Given the description of an element on the screen output the (x, y) to click on. 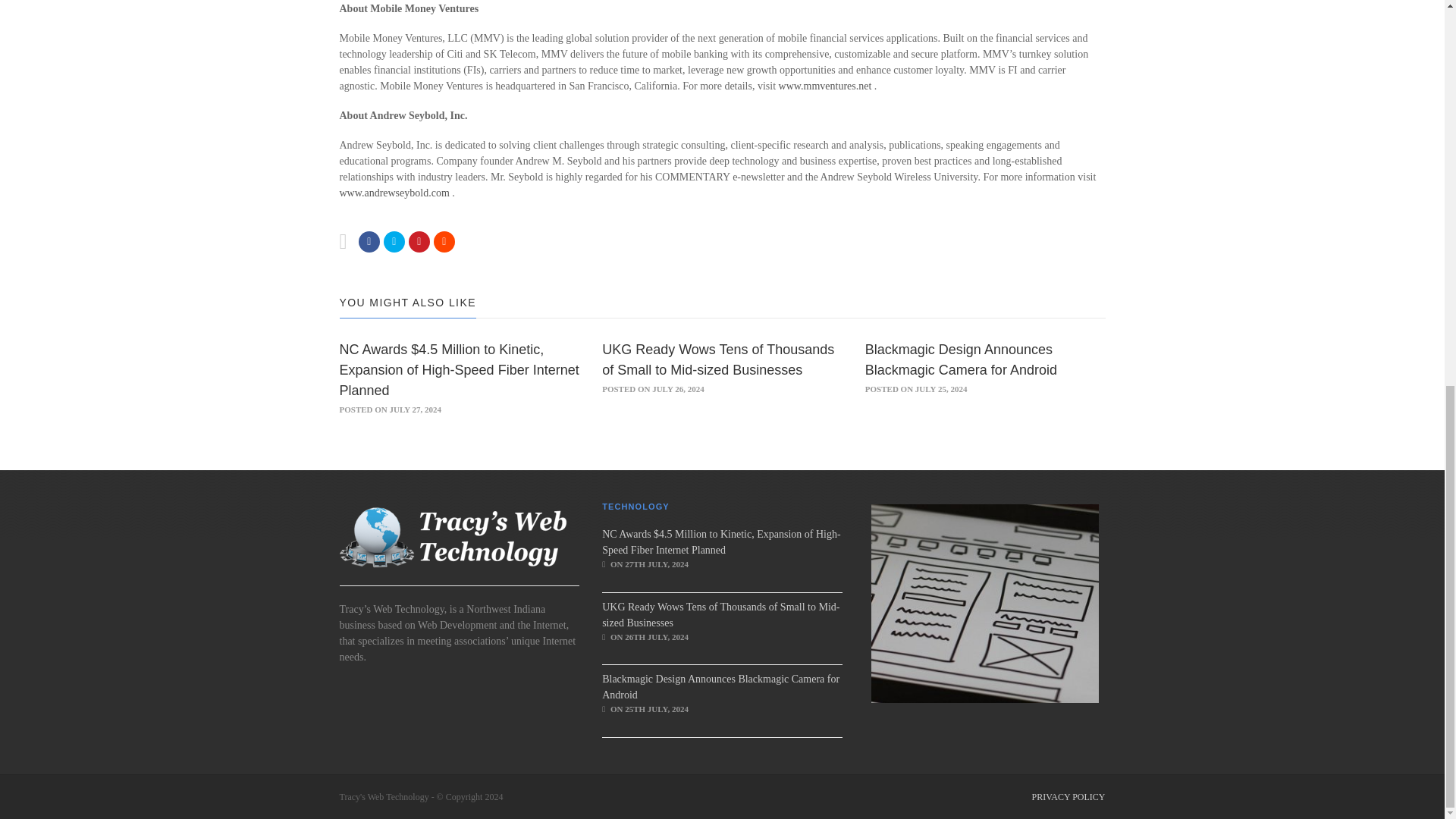
Submit to Reddit (443, 241)
www.mmventures.net (826, 84)
Tweet (394, 241)
Submit to Reddit (419, 241)
Share on Facebook (369, 241)
Blackmagic Design Announces Blackmagic Camera for Android (960, 359)
www.andrewseybold.com (395, 193)
